Given the description of an element on the screen output the (x, y) to click on. 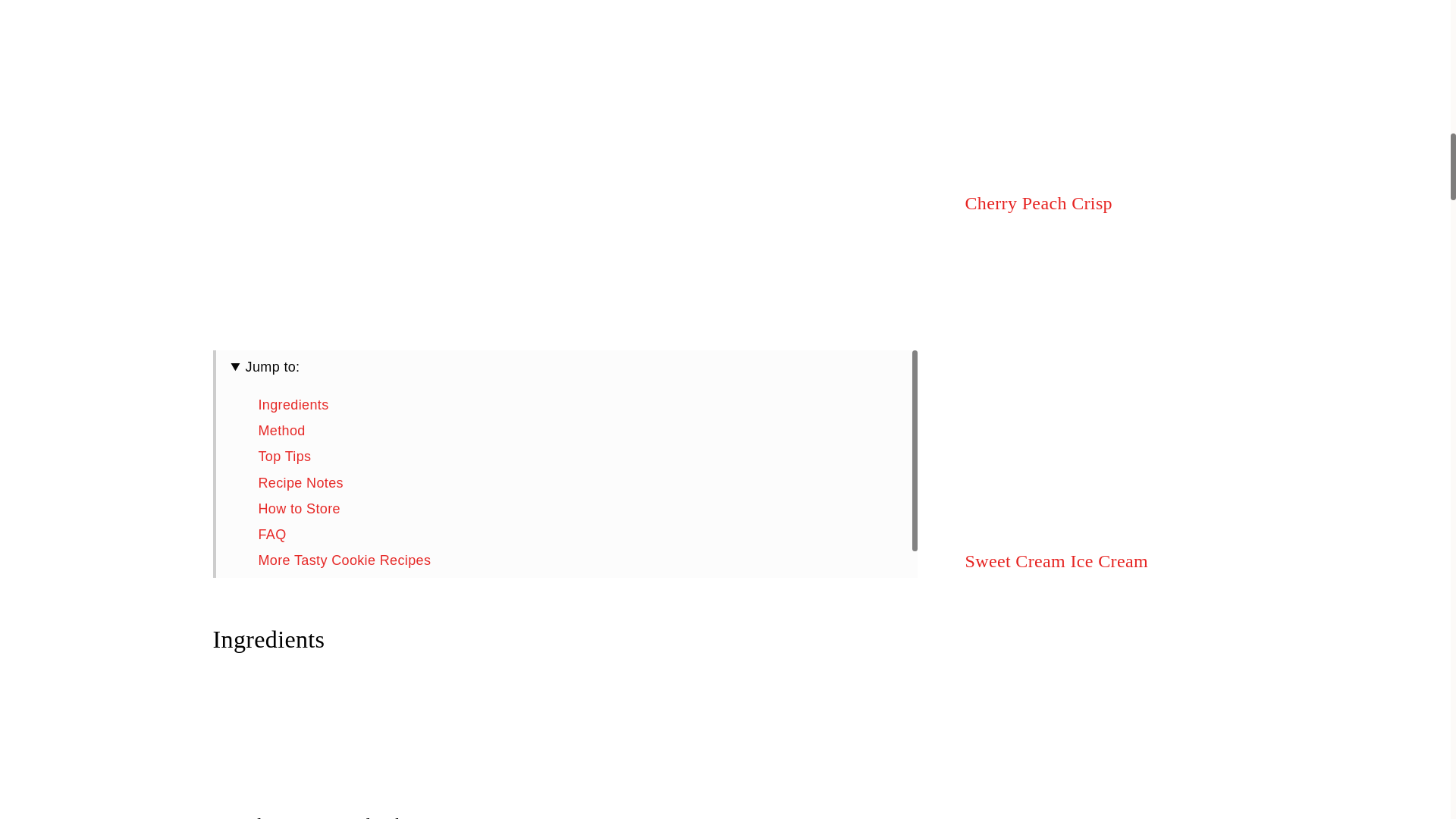
How to Store (298, 508)
Method (280, 430)
Recipe Notes (299, 482)
Walnut Chocolate Chip Cookies (357, 585)
Ingredients (293, 404)
More Tasty Cookie Recipes (343, 560)
Top Tips (284, 456)
FAQ (271, 534)
